Given the description of an element on the screen output the (x, y) to click on. 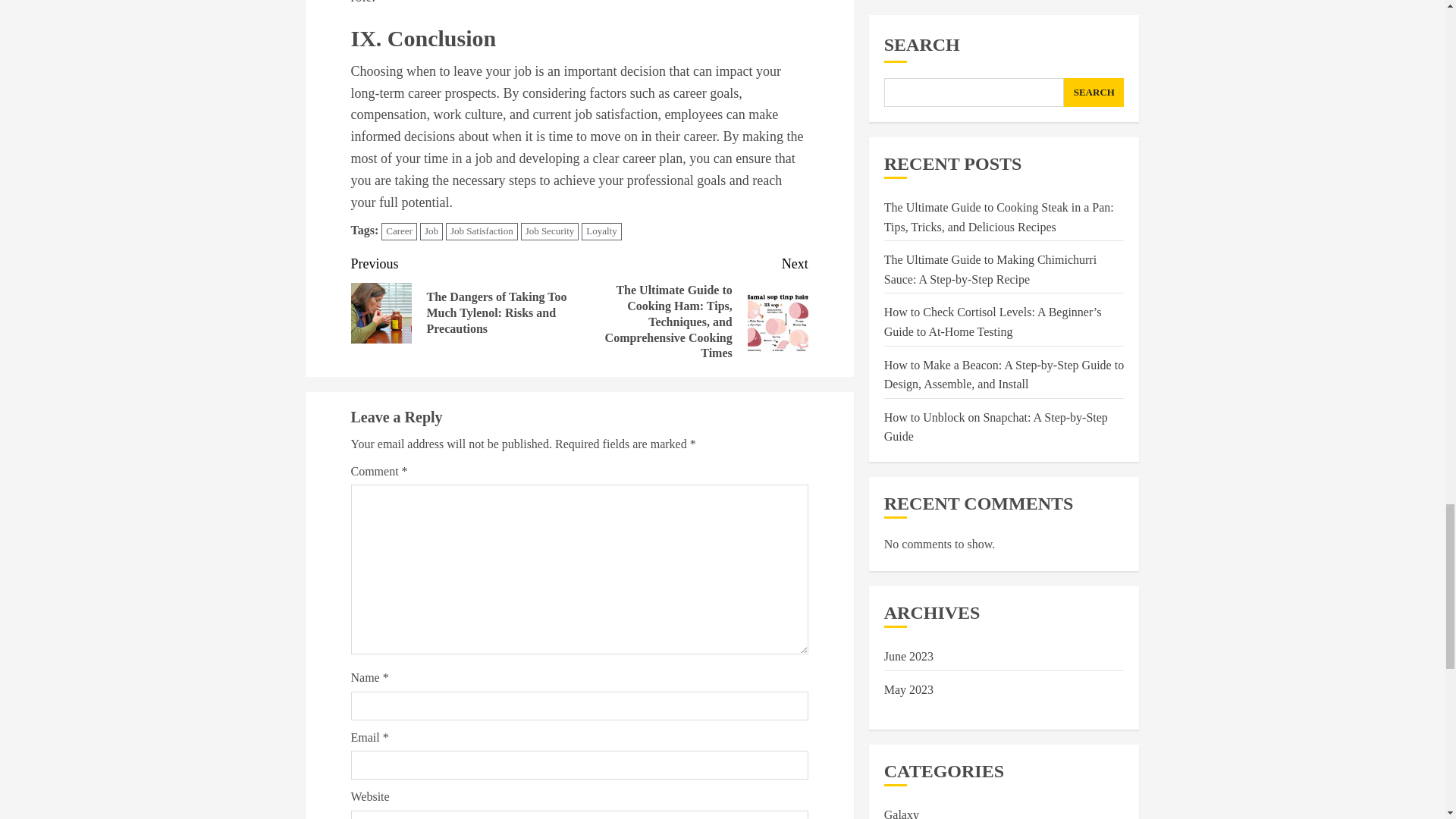
Career (398, 231)
Job (431, 231)
Job Security (550, 231)
Loyalty (600, 231)
Job Satisfaction (481, 231)
